Given the description of an element on the screen output the (x, y) to click on. 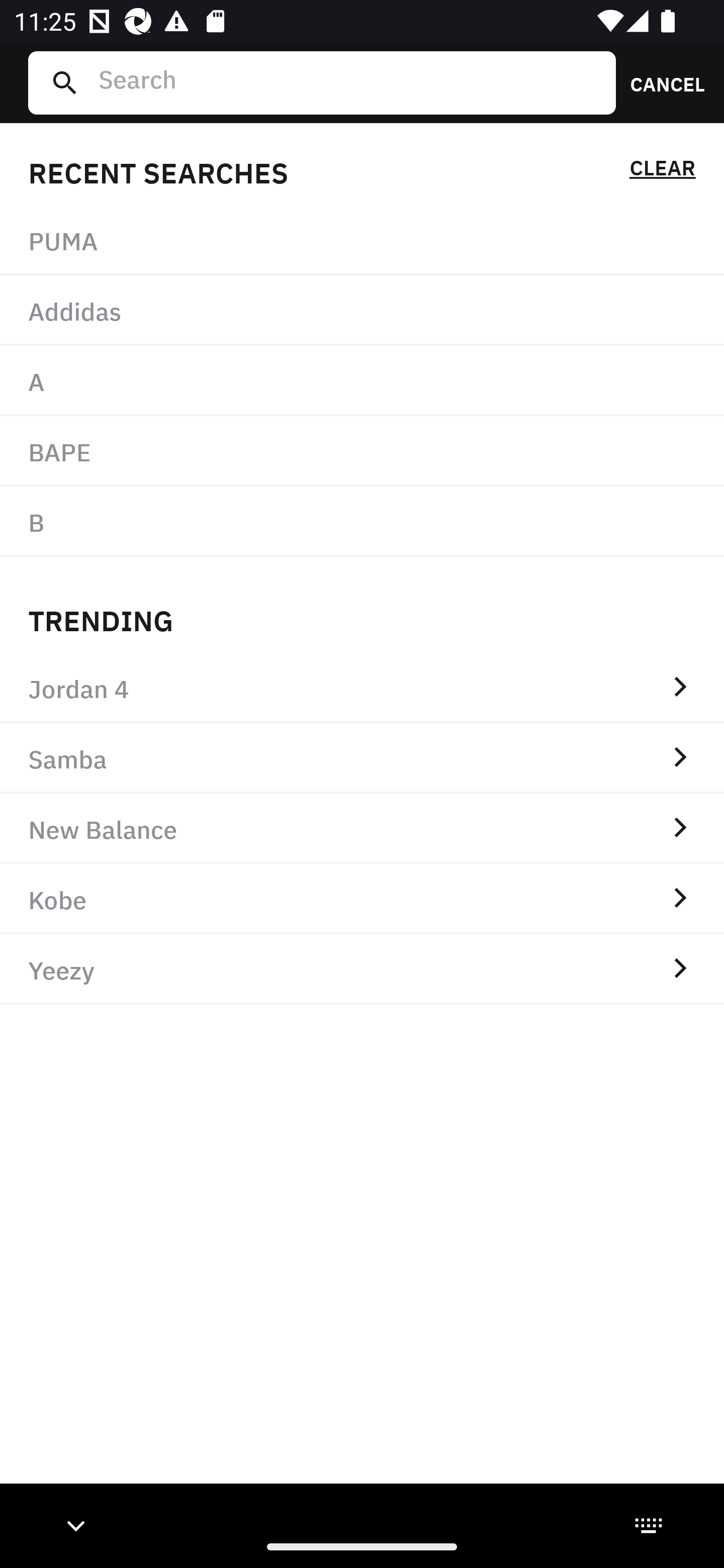
CANCEL (660, 82)
Search (349, 82)
CLEAR (662, 170)
PUMA (362, 240)
Addidas (362, 310)
A (362, 380)
BAPE (362, 450)
B (362, 521)
Jordan 4  (362, 687)
Samba  (362, 757)
New Balance  (362, 828)
Kobe  (362, 898)
Yeezy  (362, 969)
